Given the description of an element on the screen output the (x, y) to click on. 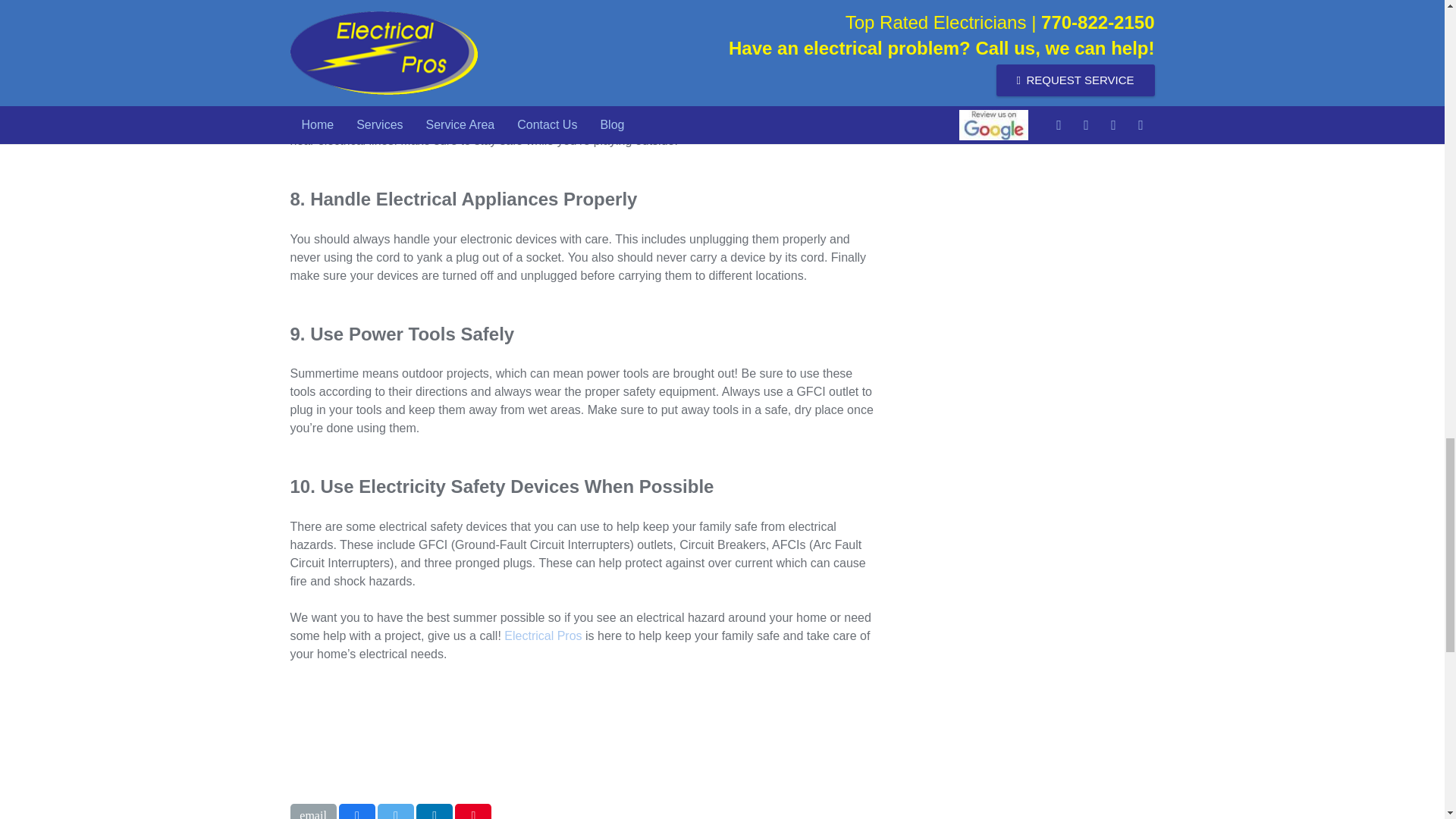
Share this (434, 811)
Pin this (473, 811)
Email this (312, 811)
Share this (357, 811)
Tweet this (395, 811)
